Given the description of an element on the screen output the (x, y) to click on. 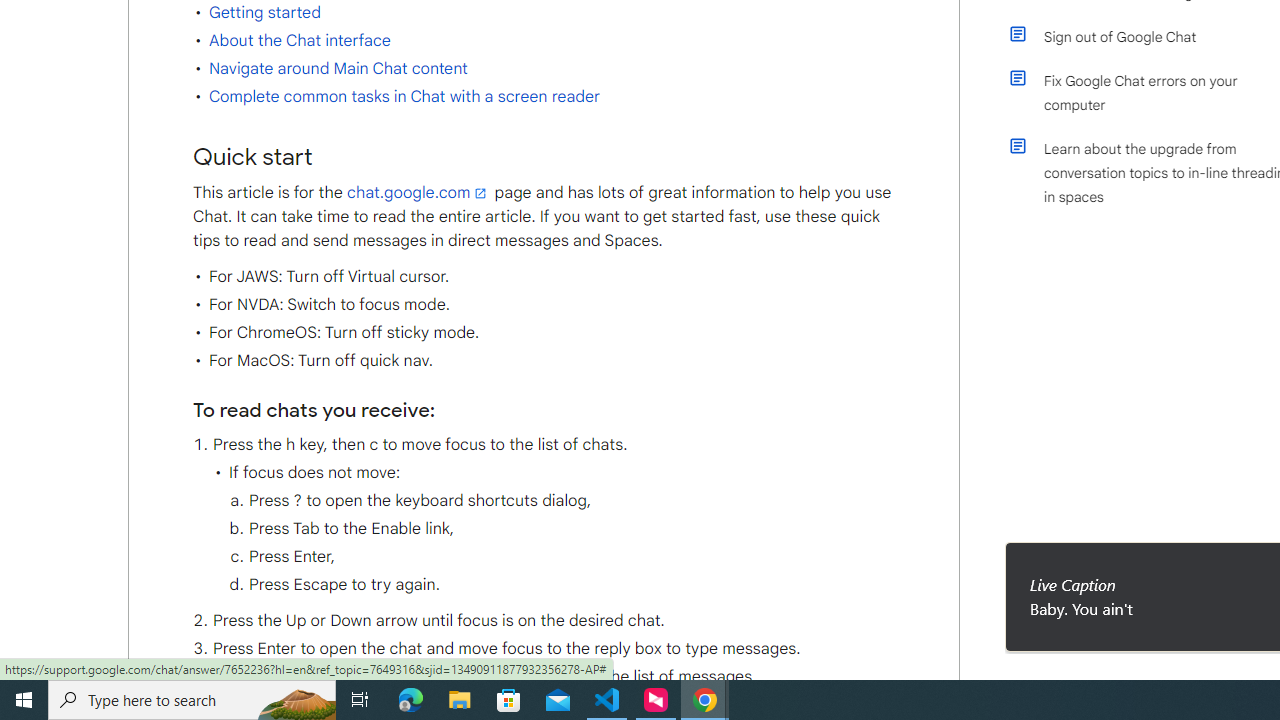
chat.google.com (418, 192)
About the Chat interface (299, 40)
Getting started (264, 12)
Navigate around Main Chat content (338, 69)
Complete common tasks in Chat with a screen reader (404, 97)
